Given the description of an element on the screen output the (x, y) to click on. 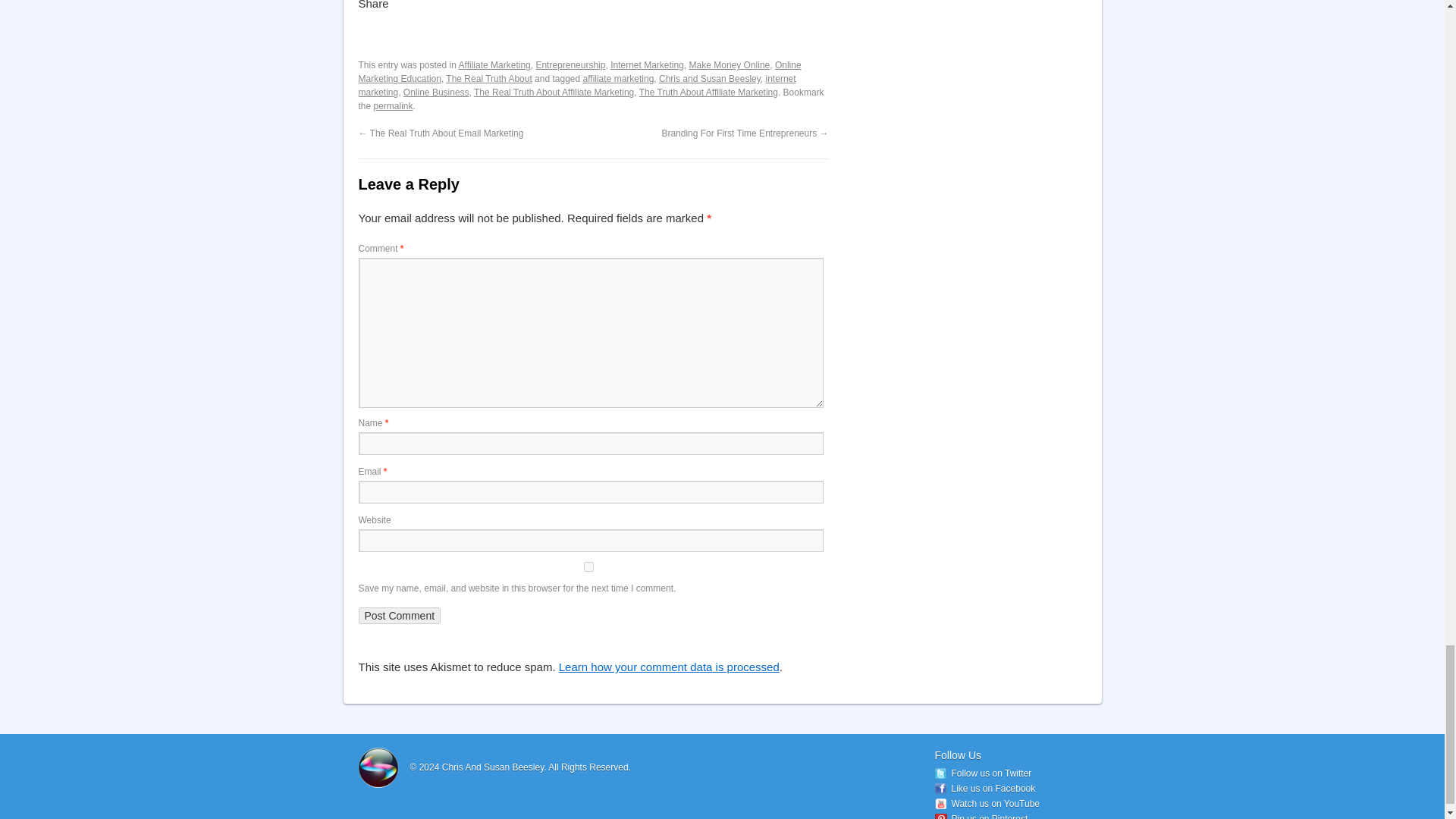
Post Comment (399, 615)
affiliate marketing (617, 78)
The Real Truth About (488, 78)
Chris and Susan Beesley (709, 78)
yes (588, 566)
Make Money Online (729, 64)
Internet Marketing (647, 64)
Online Business (435, 91)
Entrepreneurship (570, 64)
Online Marketing Education (579, 71)
Affiliate Marketing (494, 64)
Permalink to The Real Truth About Affiliate Marketing (393, 105)
Chris And Susan Beesley (495, 767)
internet marketing (576, 85)
